Given the description of an element on the screen output the (x, y) to click on. 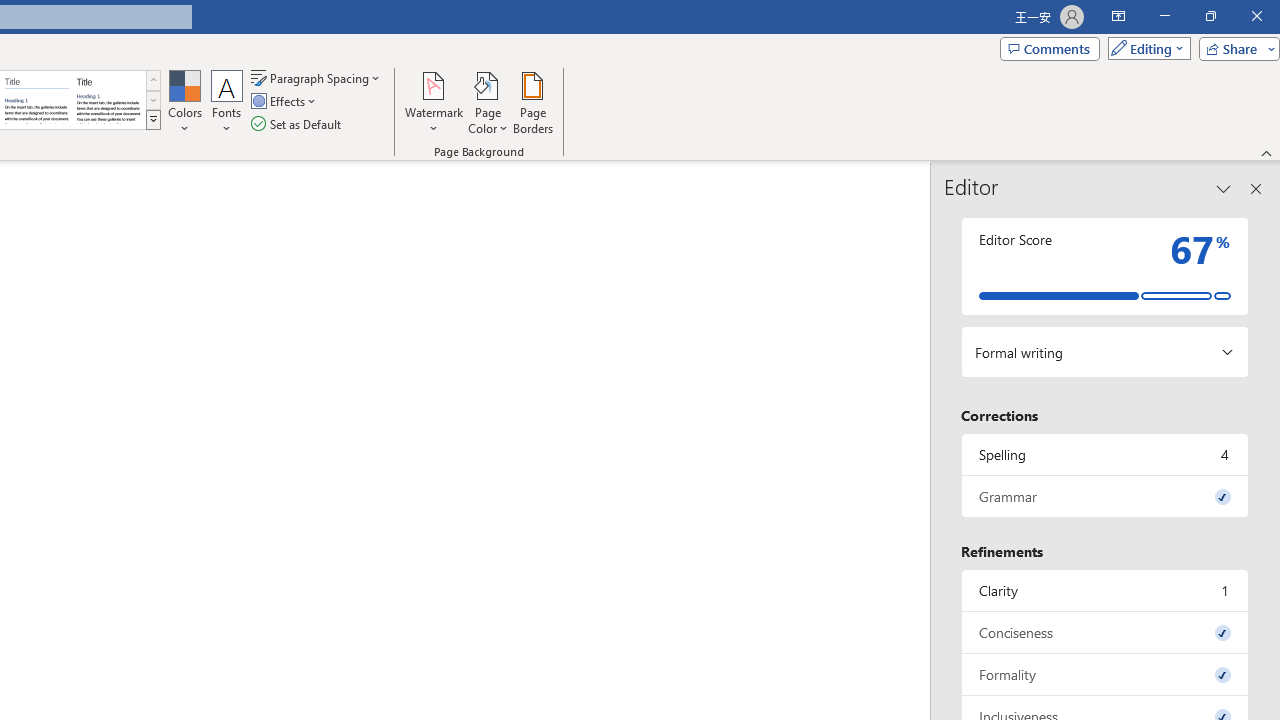
Collapse the Ribbon (1267, 152)
Word 2013 (108, 100)
